Given the description of an element on the screen output the (x, y) to click on. 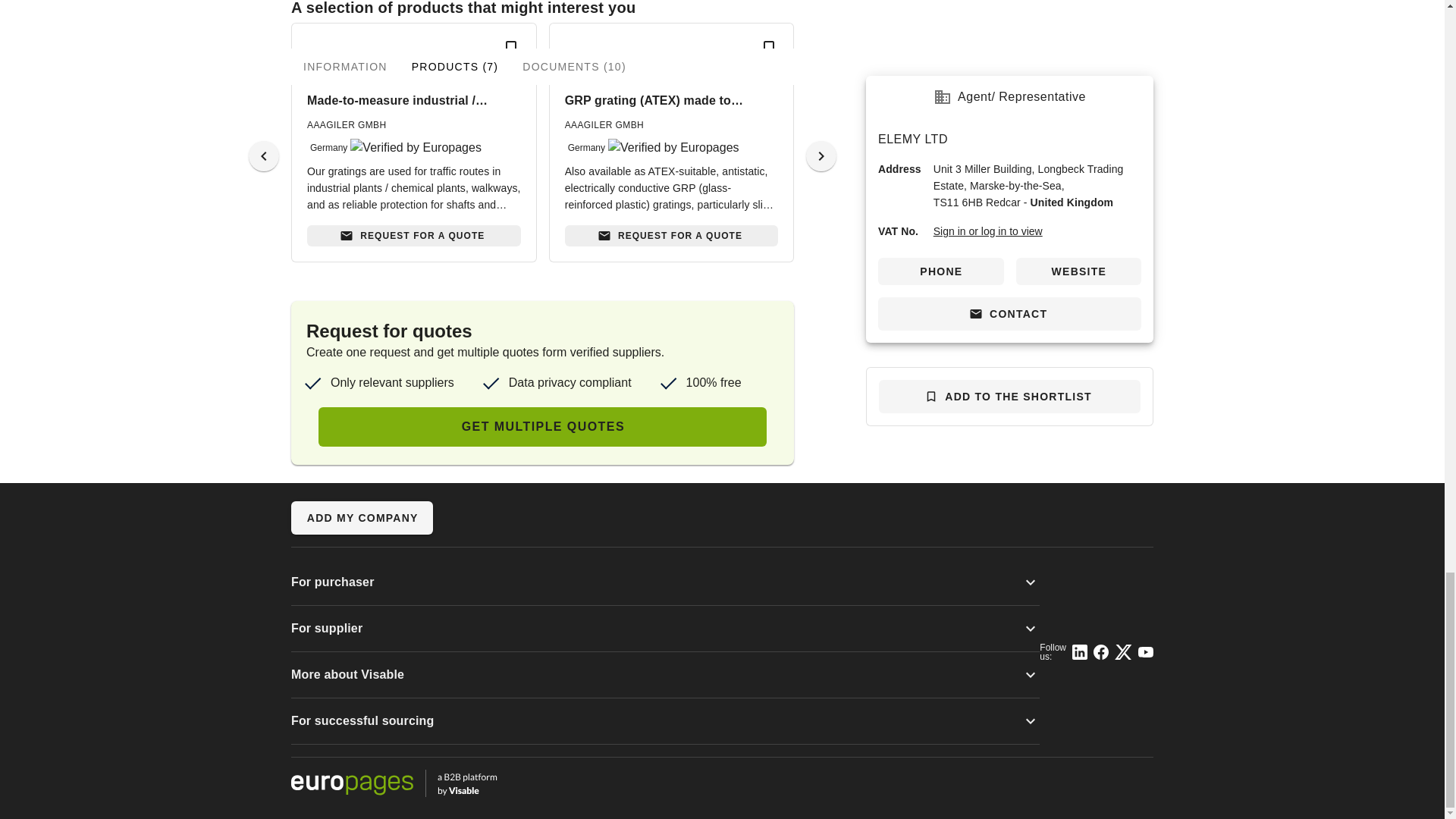
Twitter - europages (1123, 652)
Youtube - europages (1145, 652)
Facebook - europages (1100, 652)
Linkedin - europages (1079, 652)
Add my company (361, 517)
